Given the description of an element on the screen output the (x, y) to click on. 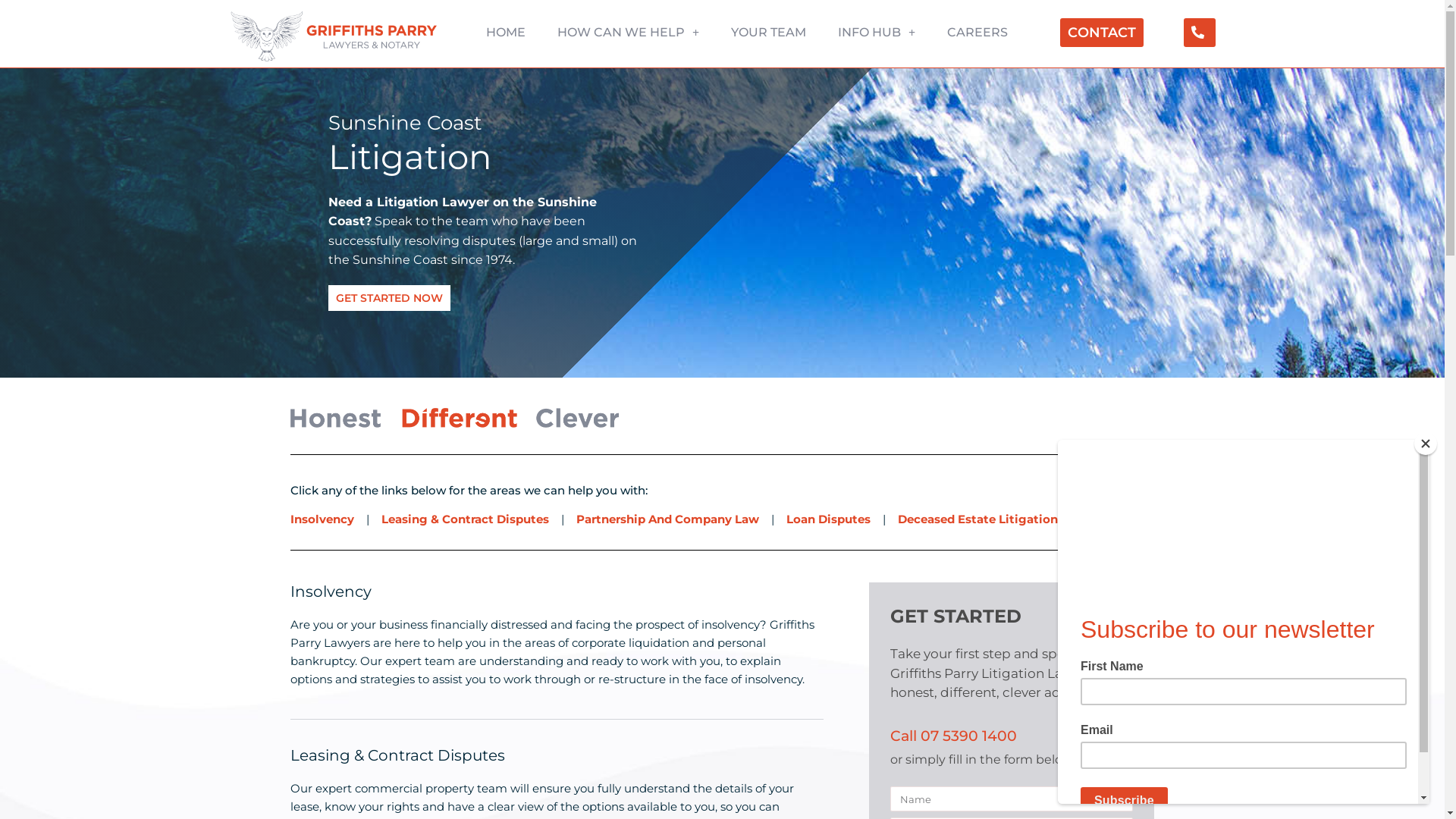
HOW CAN WE HELP Element type: text (628, 32)
Call 07 5390 1400  Element type: text (955, 735)
YOUR TEAM Element type: text (768, 32)
INFO HUB Element type: text (876, 32)
GET STARTED NOW Element type: text (388, 297)
Leasing & Contract Disputes   Element type: text (467, 518)
Loan Disputes Element type: text (828, 518)
Deceased Estate Litigation Element type: text (977, 518)
CAREERS Element type: text (977, 32)
Insolvency Element type: text (321, 518)
Partnership And Company Law Element type: text (667, 518)
CONTACT Element type: text (1101, 32)
HOME Element type: text (505, 32)
